Given the description of an element on the screen output the (x, y) to click on. 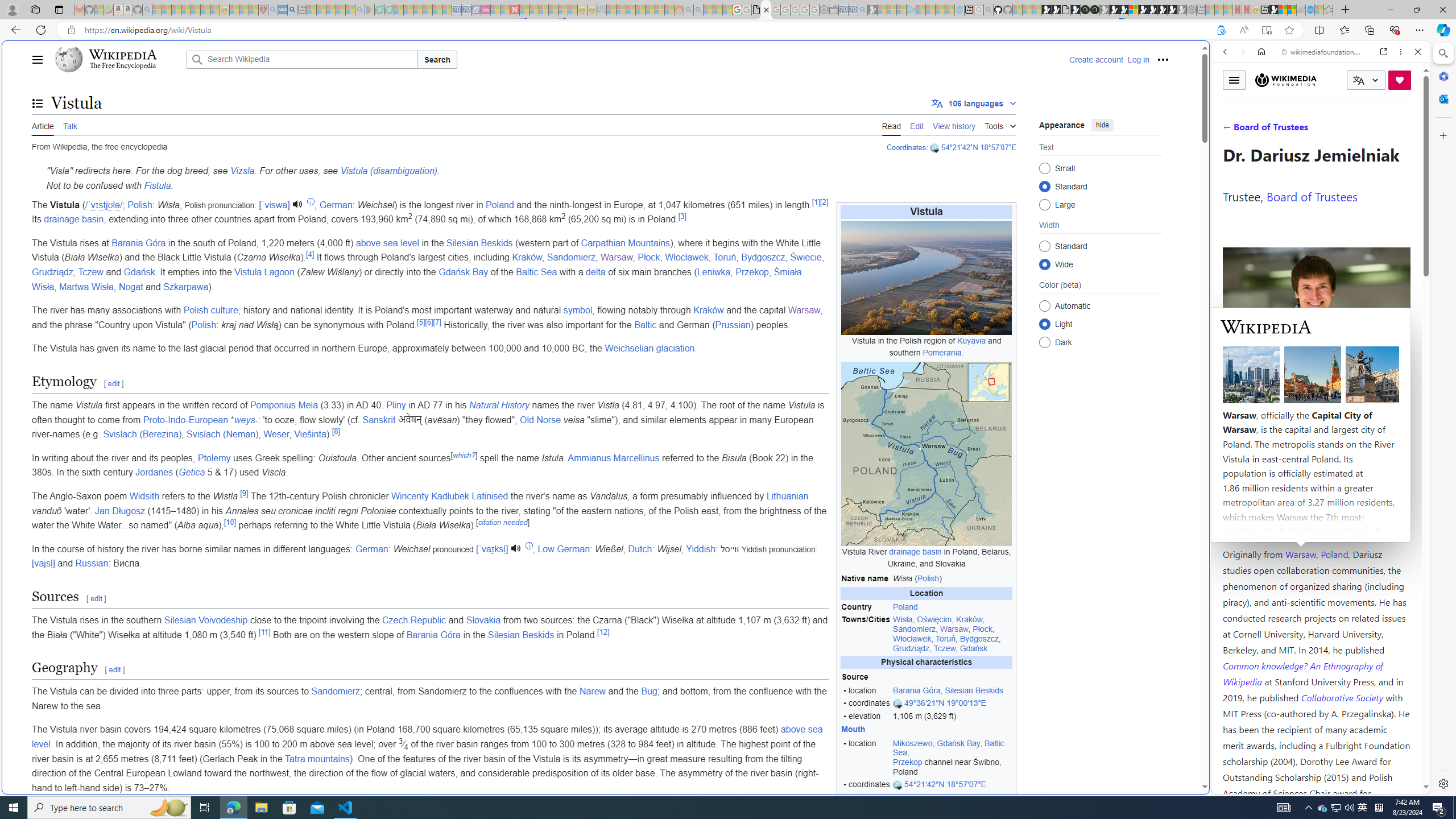
Vizsla (242, 171)
Leniwka (713, 271)
Bing Real Estate - Home sales and rental listings - Sleeping (862, 9)
Pliny (395, 405)
[1] (814, 201)
Wallet - Sleeping (833, 9)
Getica (191, 472)
Widsith (144, 495)
Read (890, 124)
